Given the description of an element on the screen output the (x, y) to click on. 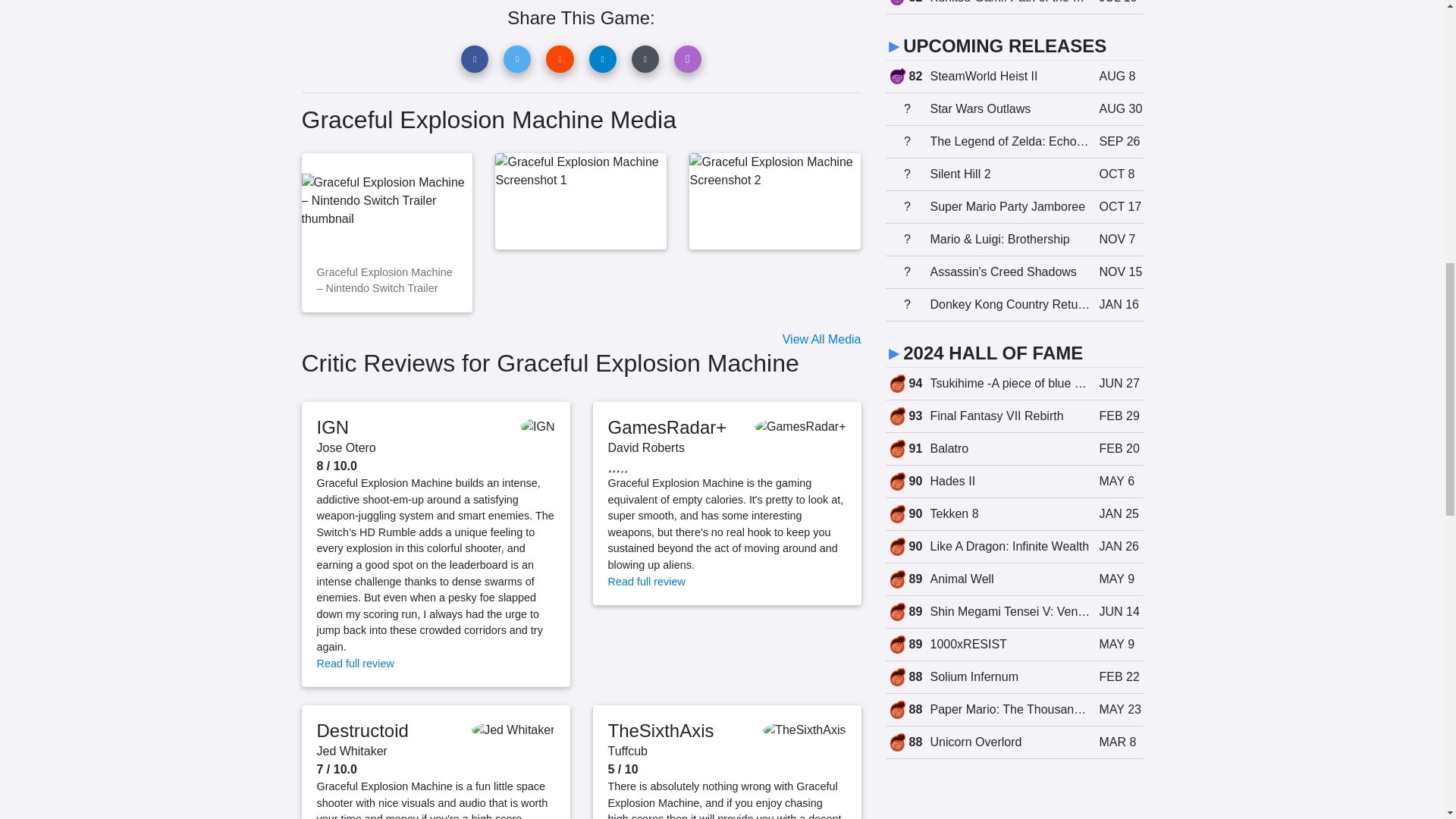
Destructoid (363, 730)
Jose Otero (346, 447)
David Roberts (646, 447)
Read full review (355, 663)
IGN (333, 426)
Jed Whitaker (352, 750)
Read full review (646, 581)
View All Media (822, 338)
